Given the description of an element on the screen output the (x, y) to click on. 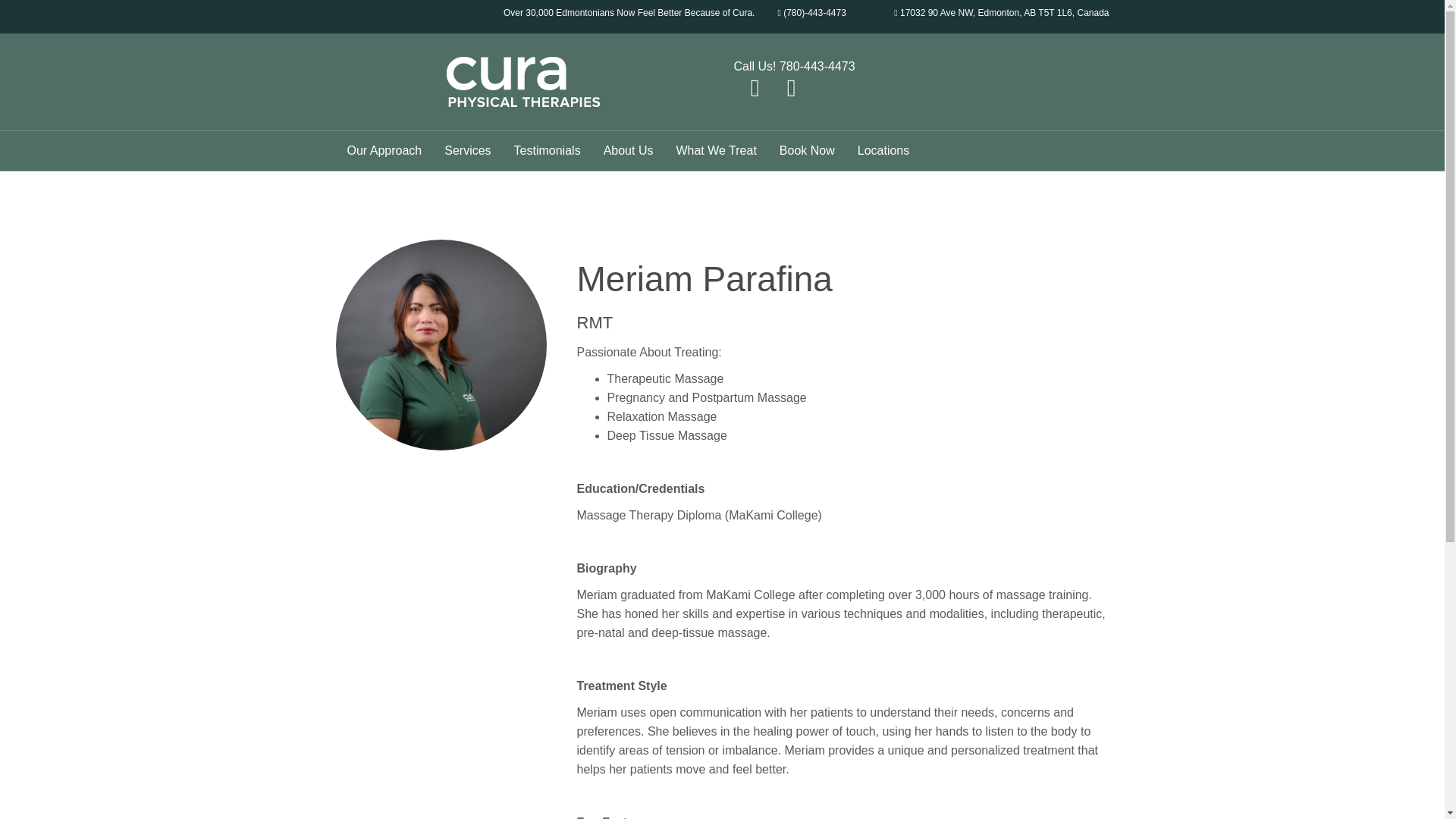
edited Cura36 (440, 344)
